Given the description of an element on the screen output the (x, y) to click on. 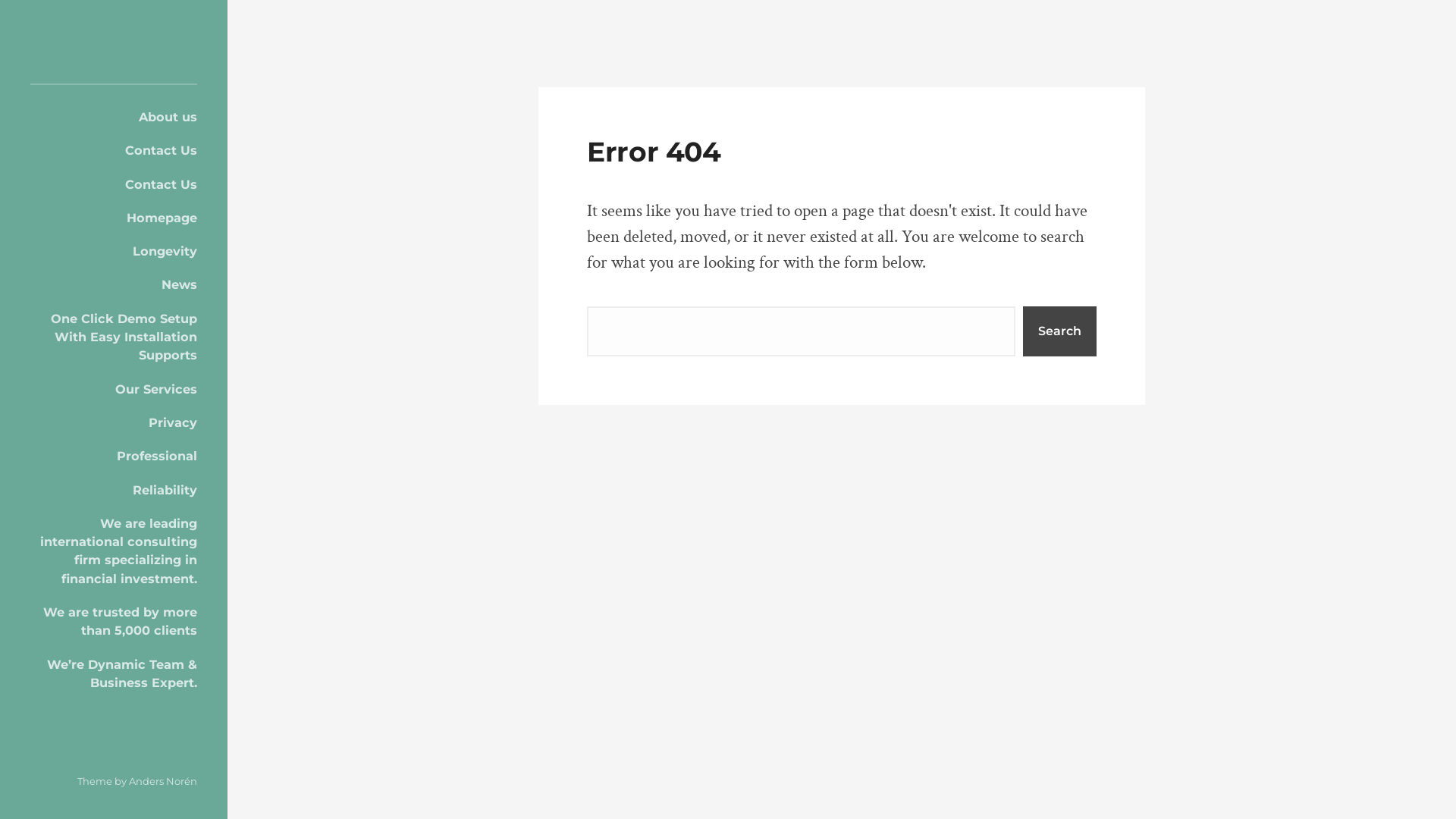
Reliability Element type: text (113, 489)
Contact Us Element type: text (113, 184)
Professional Element type: text (113, 455)
Longevity Element type: text (113, 250)
Privacy Element type: text (113, 422)
News Element type: text (113, 284)
Contact Us Element type: text (113, 150)
One Click Demo Setup With Easy Installation Supports Element type: text (113, 336)
We are trusted by more than 5,000 clients Element type: text (113, 621)
Our Services Element type: text (113, 388)
Homepage Element type: text (113, 217)
About us Element type: text (113, 116)
Search Element type: text (1059, 331)
